Given the description of an element on the screen output the (x, y) to click on. 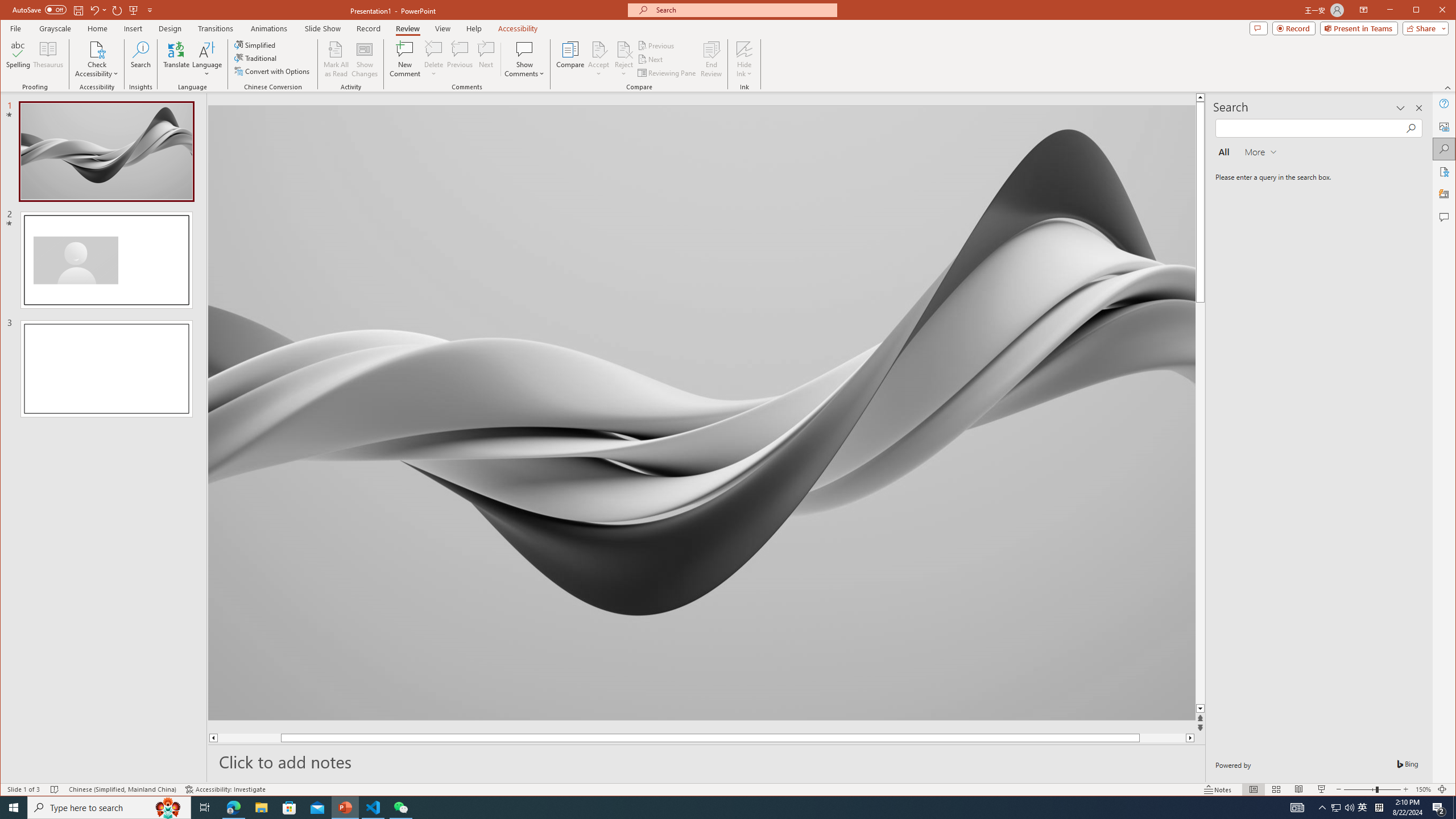
Next (651, 59)
Translate (175, 59)
Previous (657, 45)
